Given the description of an element on the screen output the (x, y) to click on. 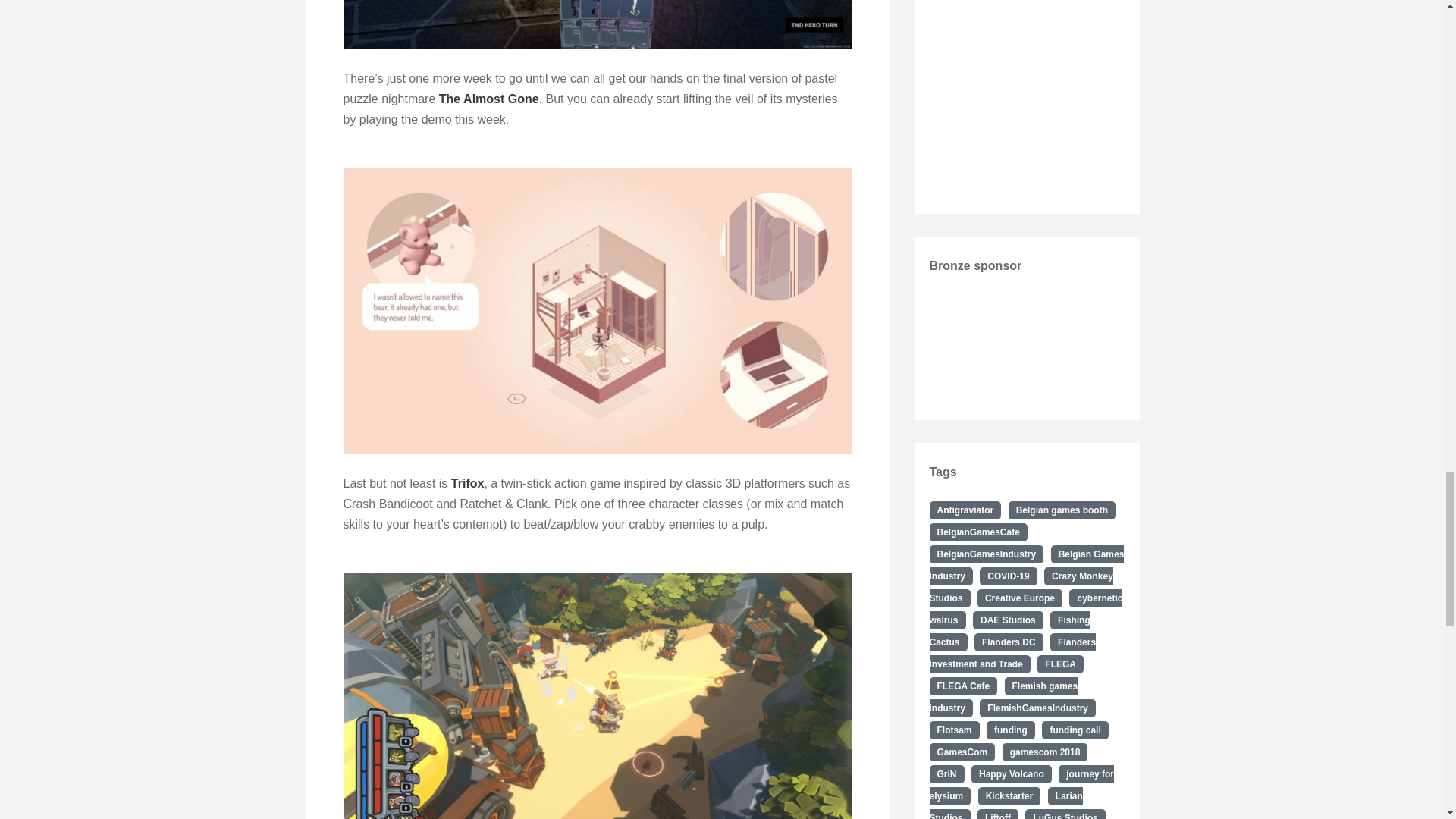
Trifox (467, 482)
The Almost Gone (488, 98)
